Given the description of an element on the screen output the (x, y) to click on. 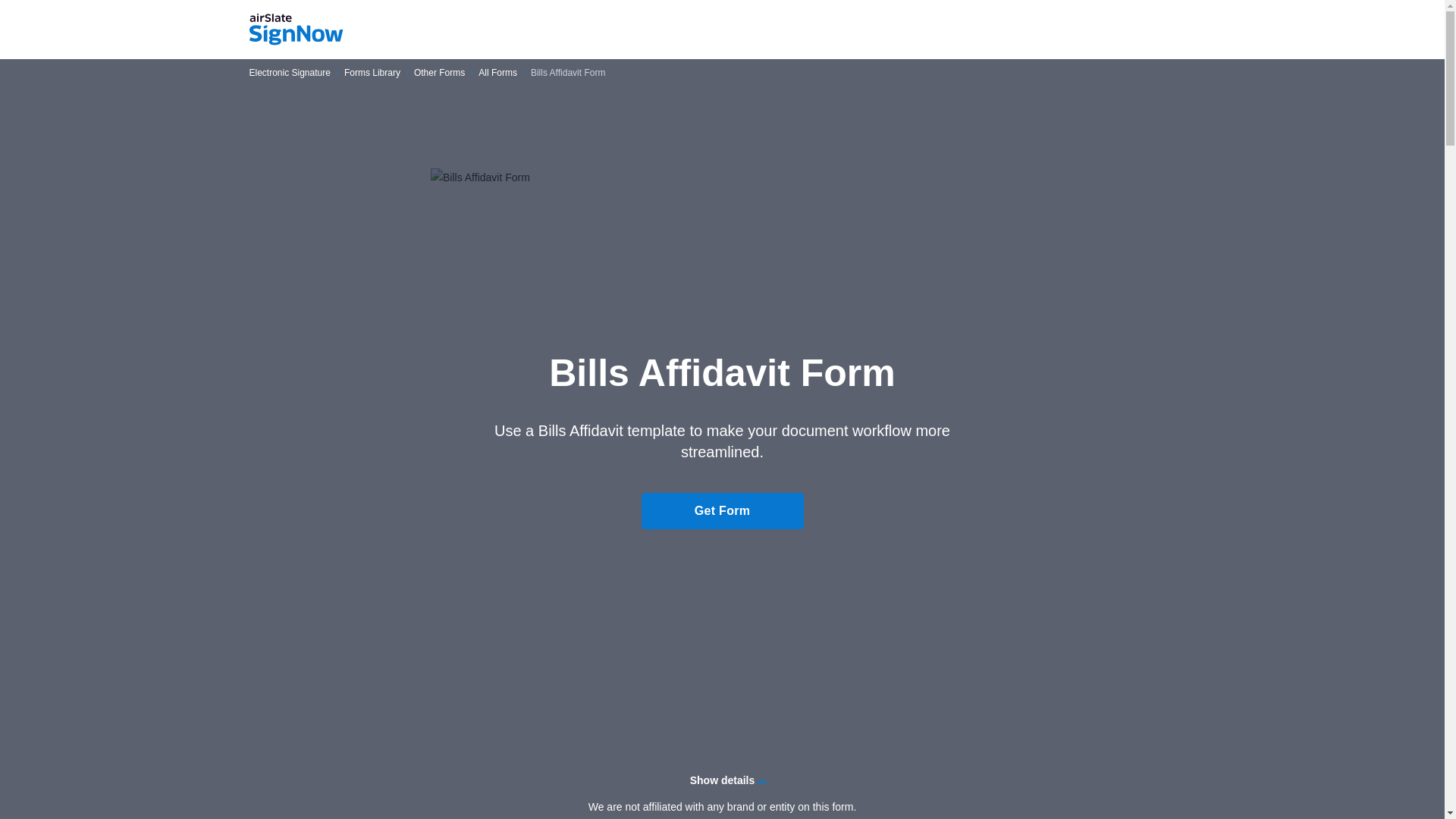
Electronic Signature (289, 73)
Other Forms (438, 73)
Get Form (722, 511)
Show details (722, 780)
signNow (295, 29)
All Forms (497, 73)
Forms Library (371, 73)
